Given the description of an element on the screen output the (x, y) to click on. 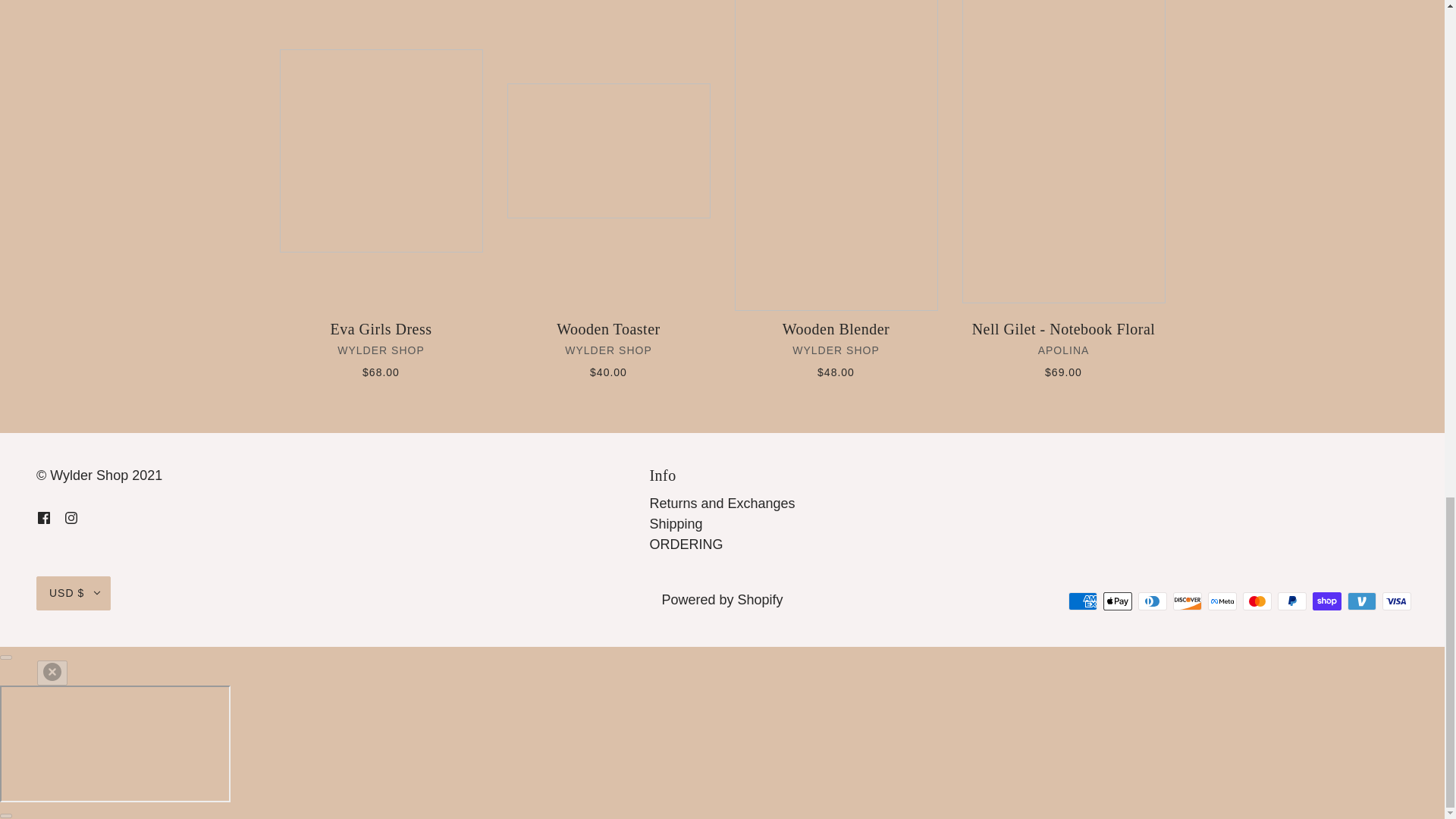
Apple Pay (1117, 601)
Meta Pay (1222, 601)
Shipping (675, 523)
ORDERING (685, 544)
Diners Club (1152, 601)
Returns and Exchanges (721, 503)
American Express (1082, 601)
Discover (1187, 601)
